Given the description of an element on the screen output the (x, y) to click on. 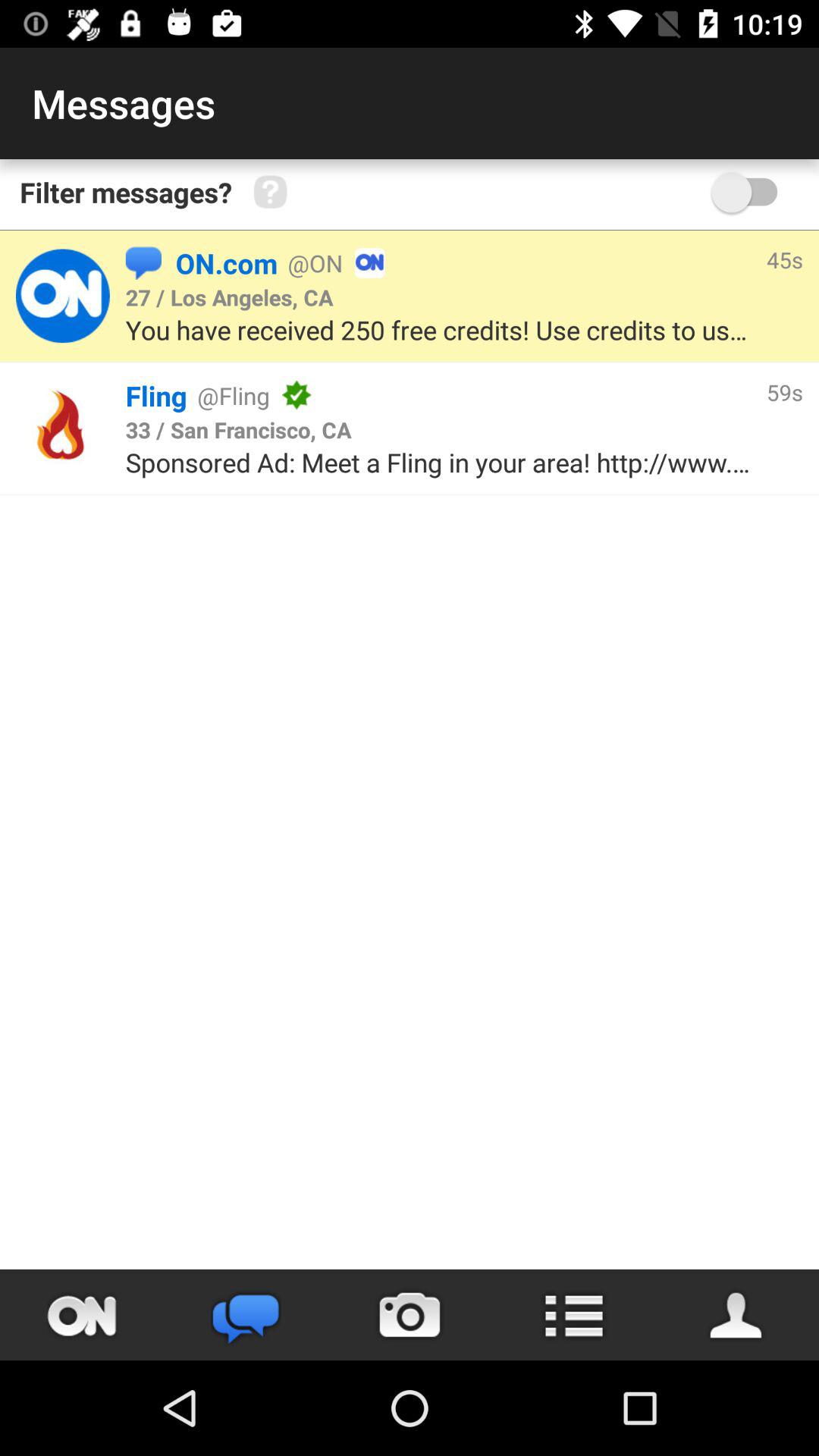
switch toggle for messages (751, 192)
